Given the description of an element on the screen output the (x, y) to click on. 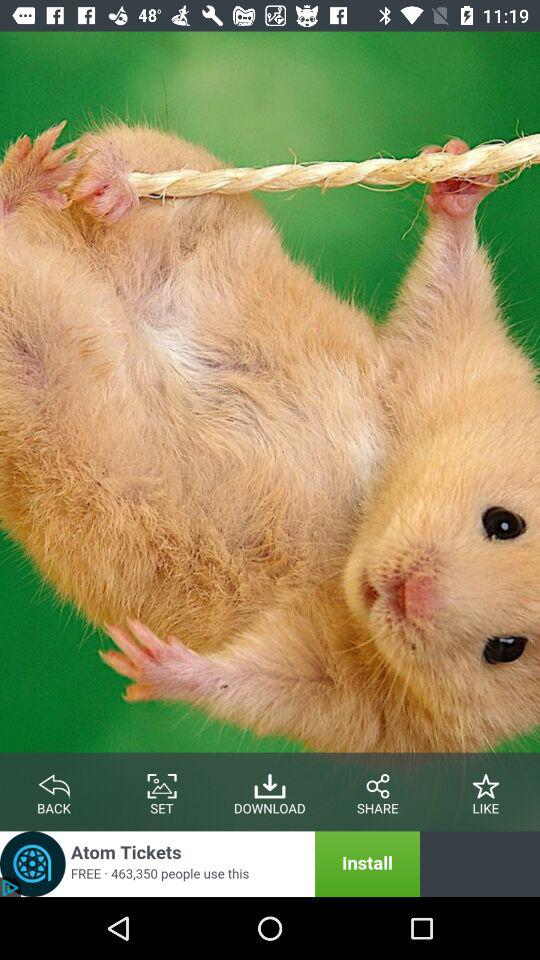
download (269, 782)
